Given the description of an element on the screen output the (x, y) to click on. 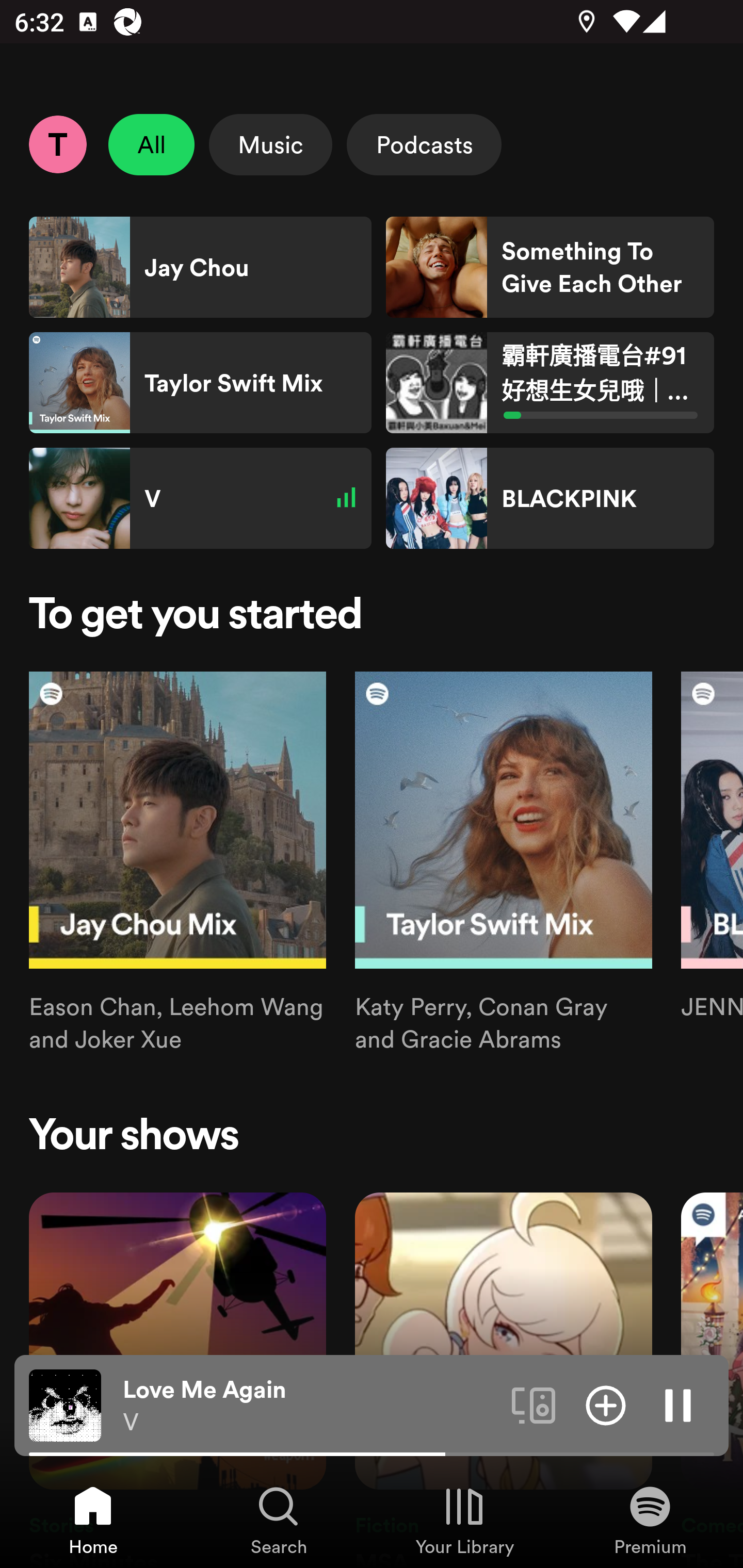
Profile (57, 144)
All Unselect All (151, 144)
Music Select Music (270, 144)
Podcasts Select Podcasts (423, 144)
Jay Chou Shortcut Jay Chou (199, 267)
Taylor Swift Mix Shortcut Taylor Swift Mix (199, 382)
V Shortcut V Playing (199, 498)
BLACKPINK Shortcut BLACKPINK (549, 498)
Love Me Again V (309, 1405)
The cover art of the currently playing track (64, 1404)
Connect to a device. Opens the devices menu (533, 1404)
Add item (605, 1404)
Pause (677, 1404)
Home, Tab 1 of 4 Home Home (92, 1519)
Search, Tab 2 of 4 Search Search (278, 1519)
Your Library, Tab 3 of 4 Your Library Your Library (464, 1519)
Premium, Tab 4 of 4 Premium Premium (650, 1519)
